Given the description of an element on the screen output the (x, y) to click on. 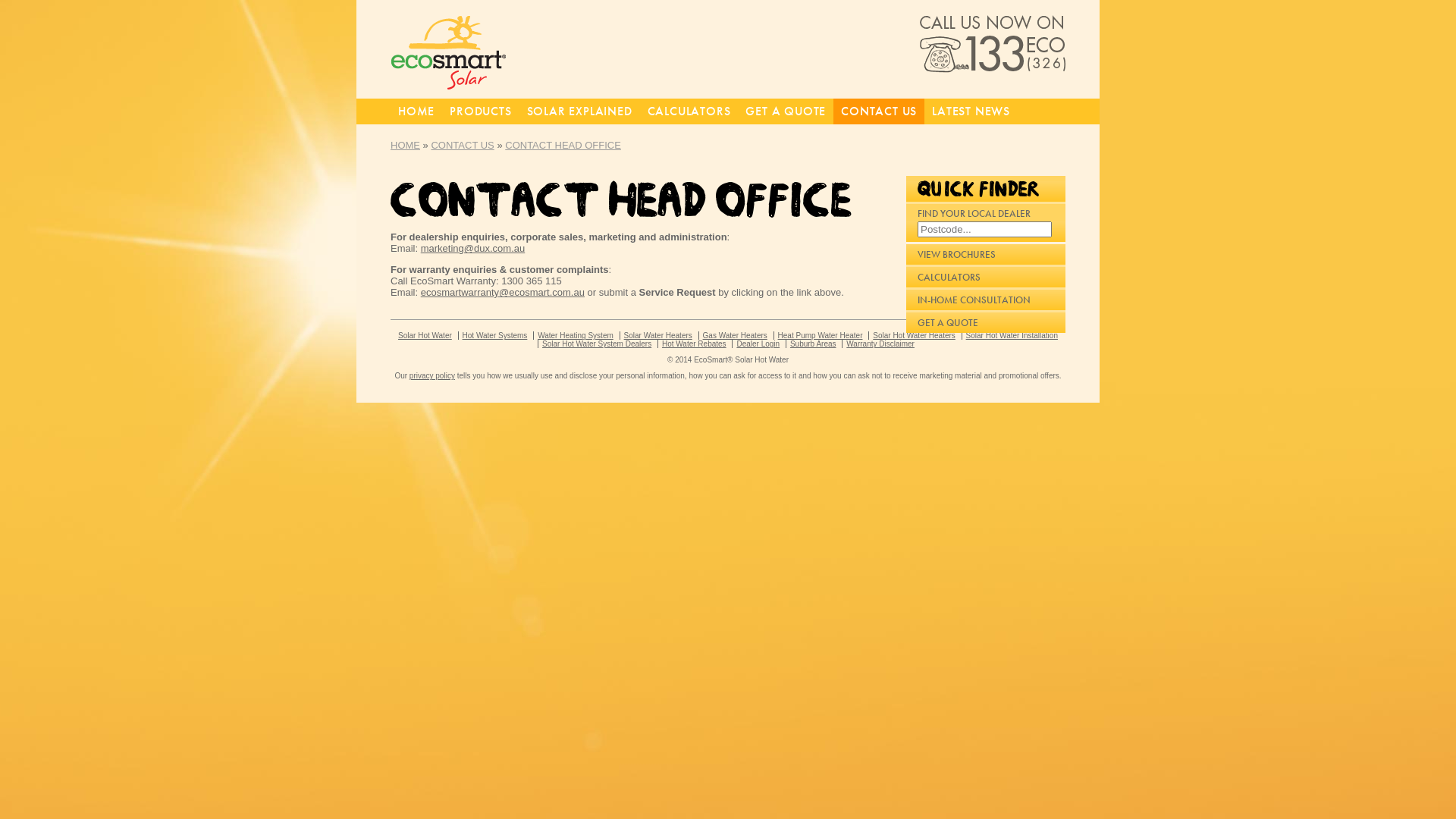
Suburb Areas Element type: text (812, 343)
LATEST NEWS Element type: text (970, 111)
Solar Water Heaters Element type: text (657, 335)
PRODUCTS Element type: text (480, 111)
Solar Hot Water System Dealers Element type: text (596, 343)
Gas Water Heaters Element type: text (734, 335)
GET A QUOTE Element type: text (785, 111)
CONTACT US Element type: text (878, 111)
HOME Element type: text (416, 111)
Warranty Disclaimer Element type: text (879, 343)
CALCULATORS Element type: text (985, 276)
privacy policy Element type: text (432, 375)
Heat Pump Water Heater Element type: text (819, 335)
Hot Water Systems Element type: text (494, 335)
VIEW BROCHURES Element type: text (985, 254)
CONTACT US Element type: text (461, 144)
Hot Water Rebates Element type: text (693, 343)
CALCULATORS Element type: text (689, 111)
GET A QUOTE Element type: text (985, 322)
Dealer Login Element type: text (757, 343)
SOLAR EXPLAINED Element type: text (579, 111)
ecosmartwarranty@ecosmart.com.au Element type: text (502, 292)
Water Heating System Element type: text (575, 335)
Solar Hot Water Heaters Element type: text (913, 335)
Solar Hot Water Installation Element type: text (1011, 335)
marketing@dux.com.au Element type: text (472, 248)
CONTACT HEAD OFFICE Element type: text (563, 144)
IN-HOME CONSULTATION Element type: text (985, 299)
HOME Element type: text (405, 144)
Solar Hot Water Element type: text (424, 335)
